Given the description of an element on the screen output the (x, y) to click on. 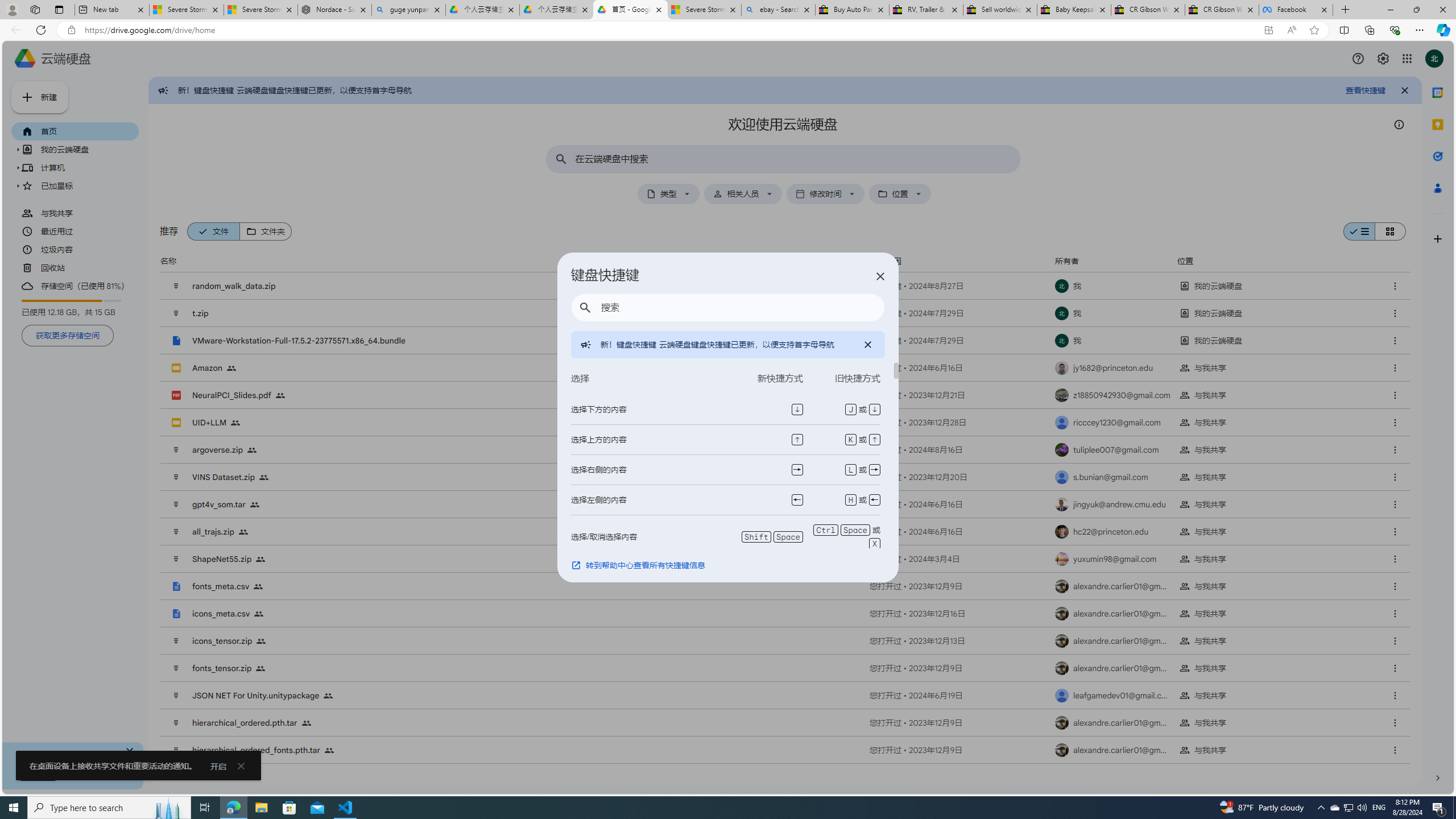
ebay - Search (777, 9)
